Given the description of an element on the screen output the (x, y) to click on. 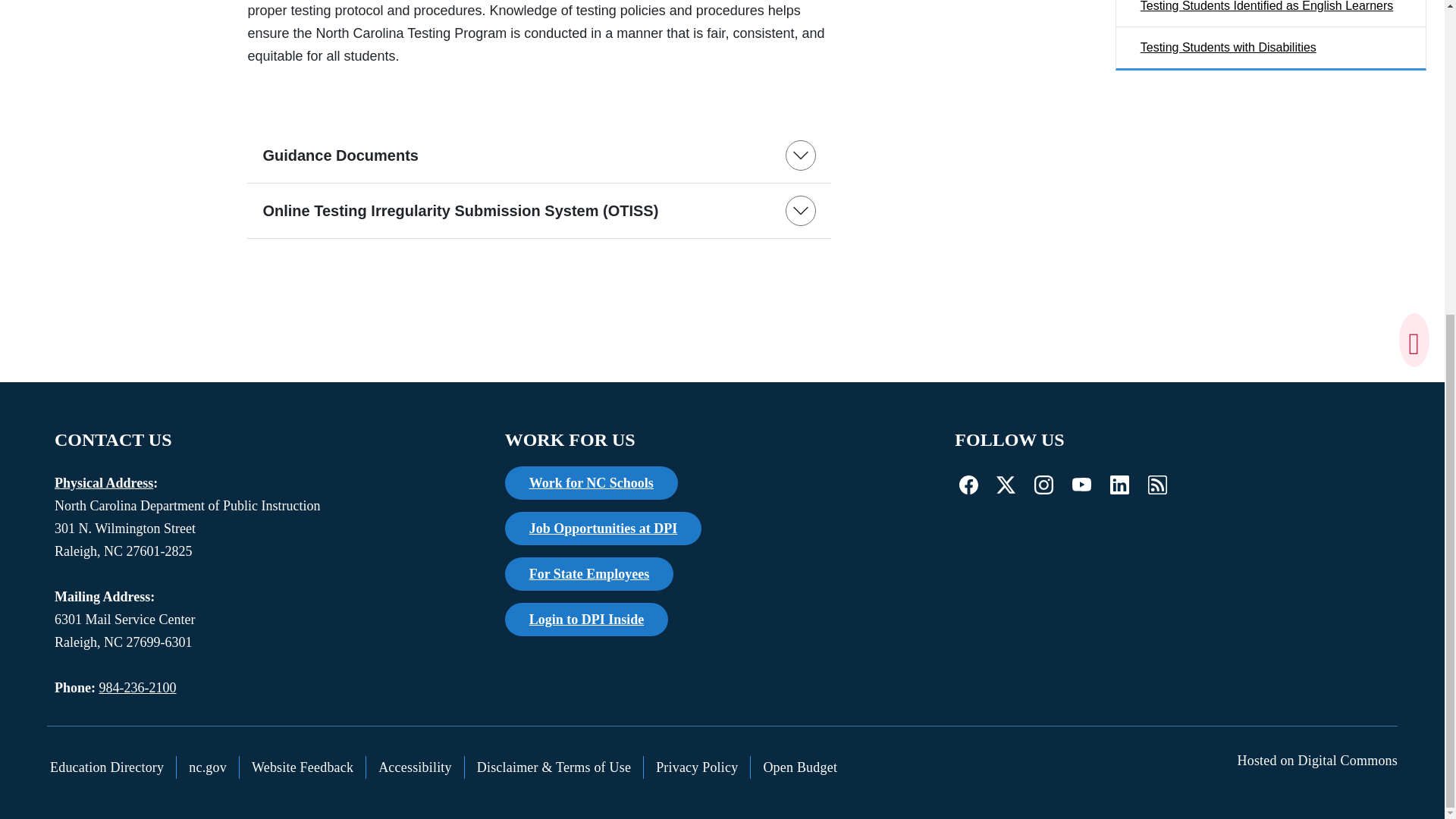
State of North Carolina Open Budget (799, 766)
State of North Carolina Privacy Policy (697, 766)
Website User Feedback Form (303, 766)
The State of North Carolina (208, 766)
Terms of Use (553, 766)
Accessibility of State of North Carolina Websites (415, 766)
